Given the description of an element on the screen output the (x, y) to click on. 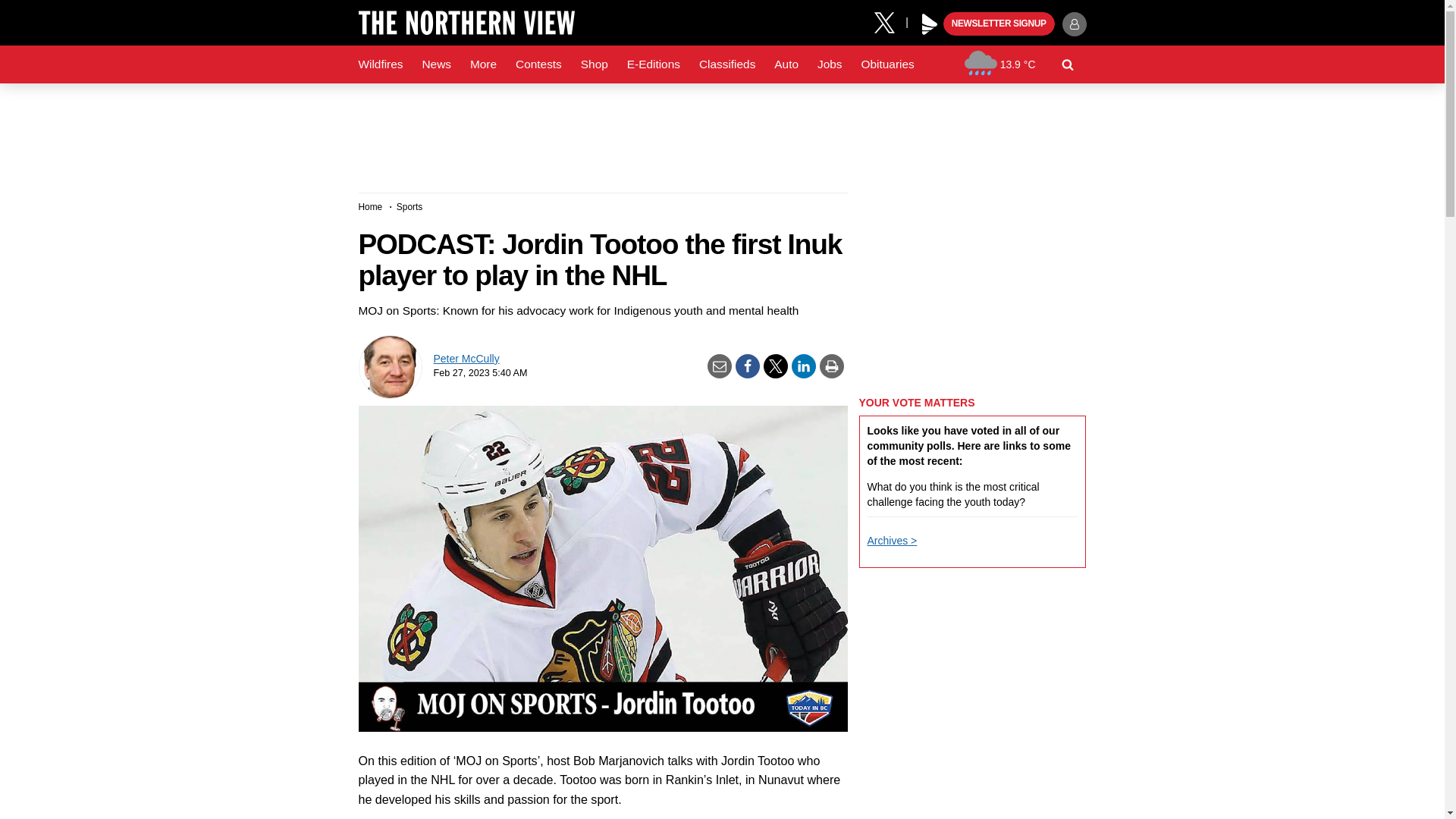
Black Press Media (929, 24)
News (435, 64)
Wildfires (380, 64)
NEWSLETTER SIGNUP (998, 24)
X (889, 21)
Play (929, 24)
